Given the description of an element on the screen output the (x, y) to click on. 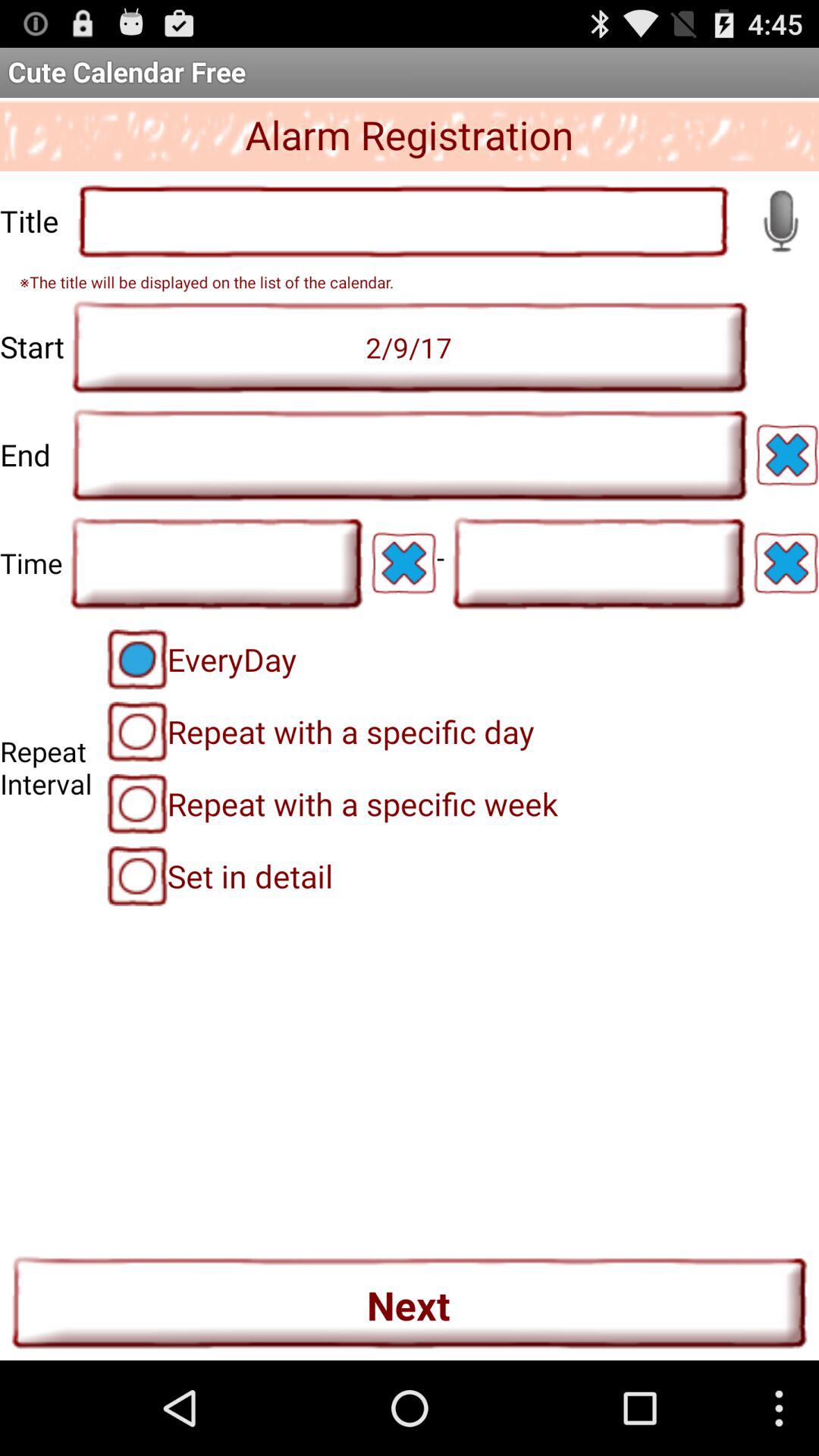
choose icon above repeat with a (201, 659)
